Given the description of an element on the screen output the (x, y) to click on. 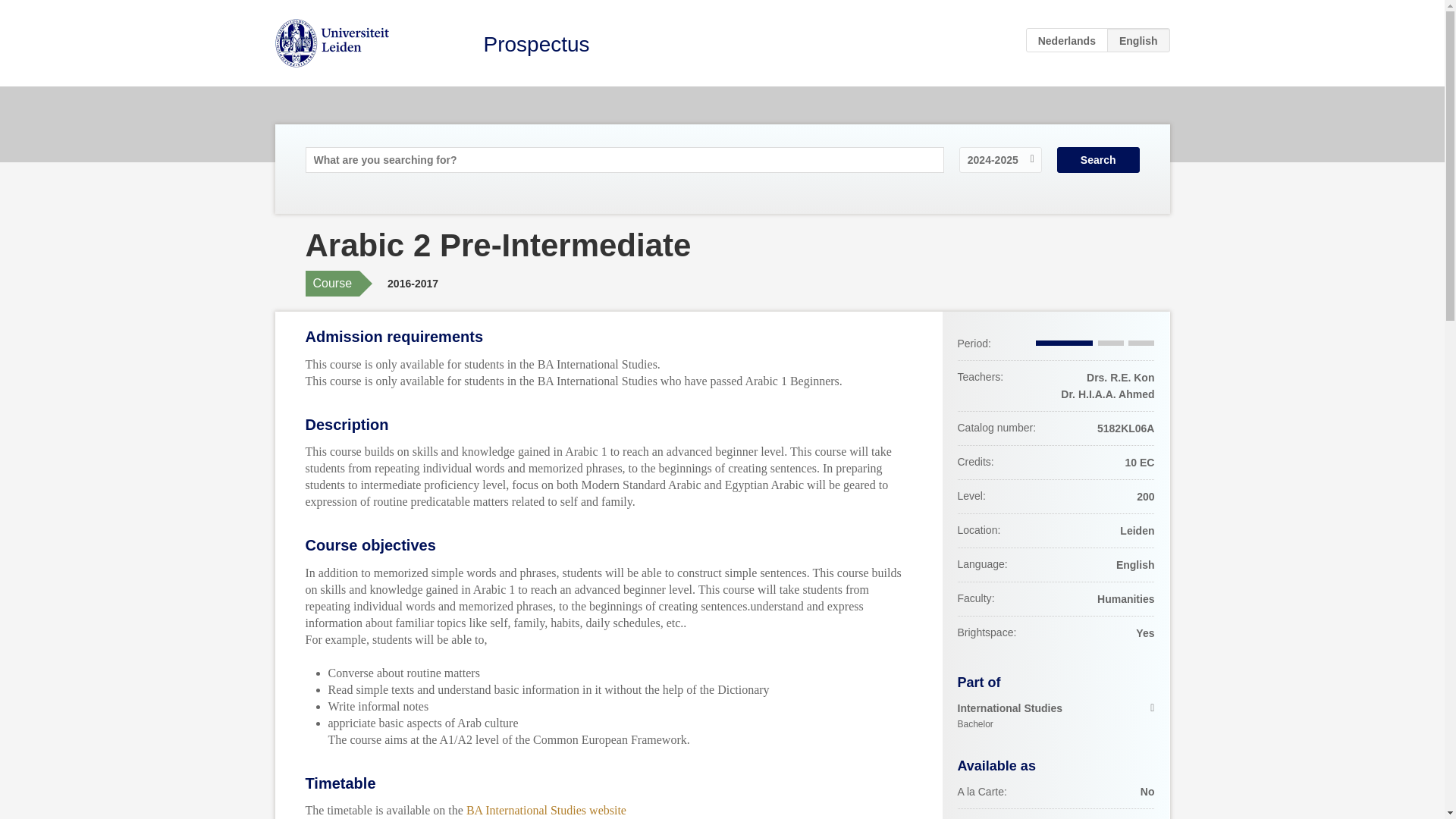
BA International Studies website (545, 809)
Search (1098, 159)
Prospectus (536, 44)
NL (1067, 39)
